Given the description of an element on the screen output the (x, y) to click on. 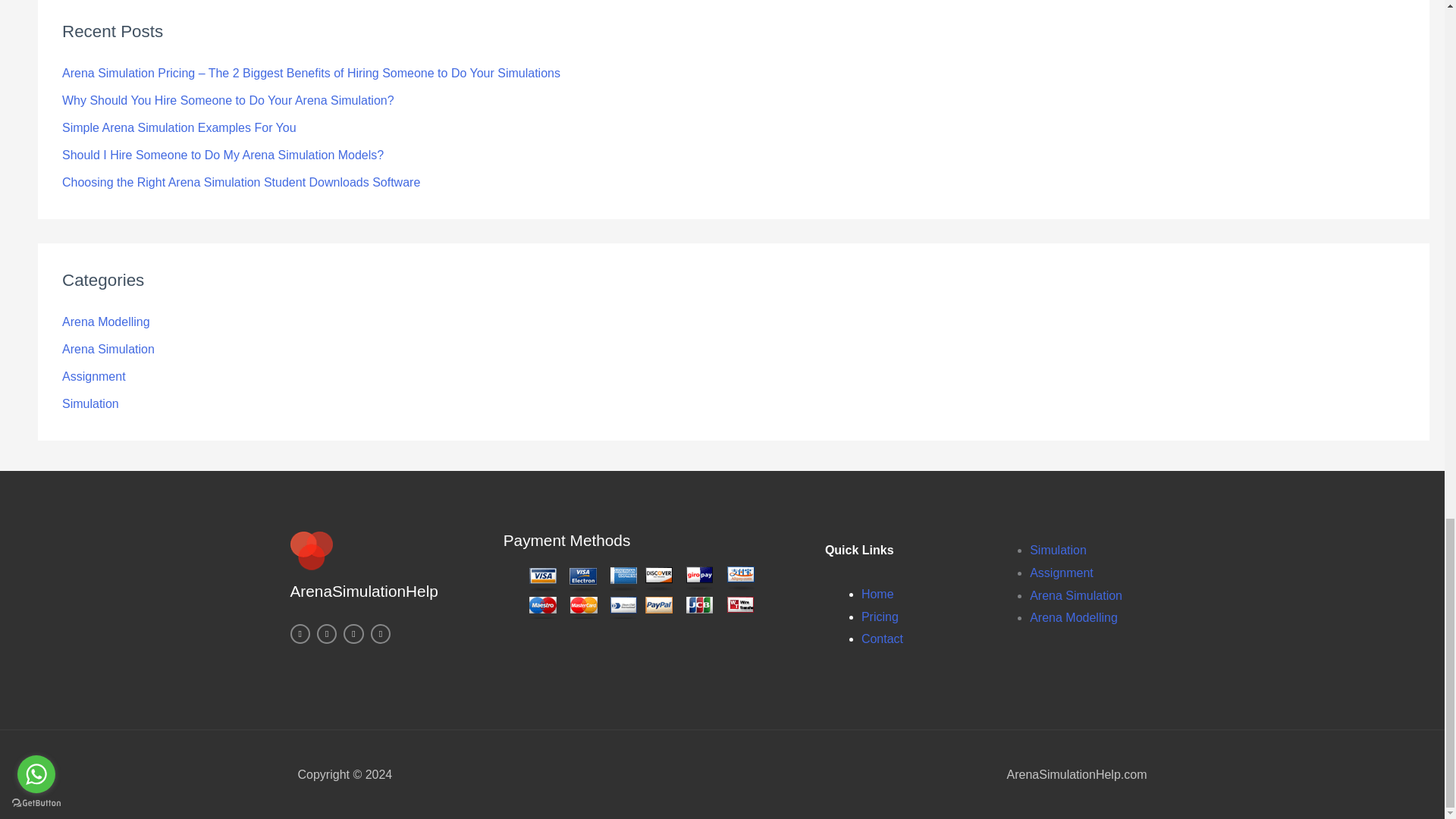
Arena Simulation (108, 349)
Assignment (1061, 572)
Simulation (90, 403)
Facebook (380, 633)
Contact (881, 638)
Instagram (298, 633)
Assignment (93, 376)
Why Should You Hire Someone to Do Your Arena Simulation? (228, 100)
Home (877, 594)
Linkedin (352, 633)
Twitter (326, 633)
Arena Modelling (105, 321)
Simulation (1057, 549)
Arena Simulation (1075, 594)
